Given the description of an element on the screen output the (x, y) to click on. 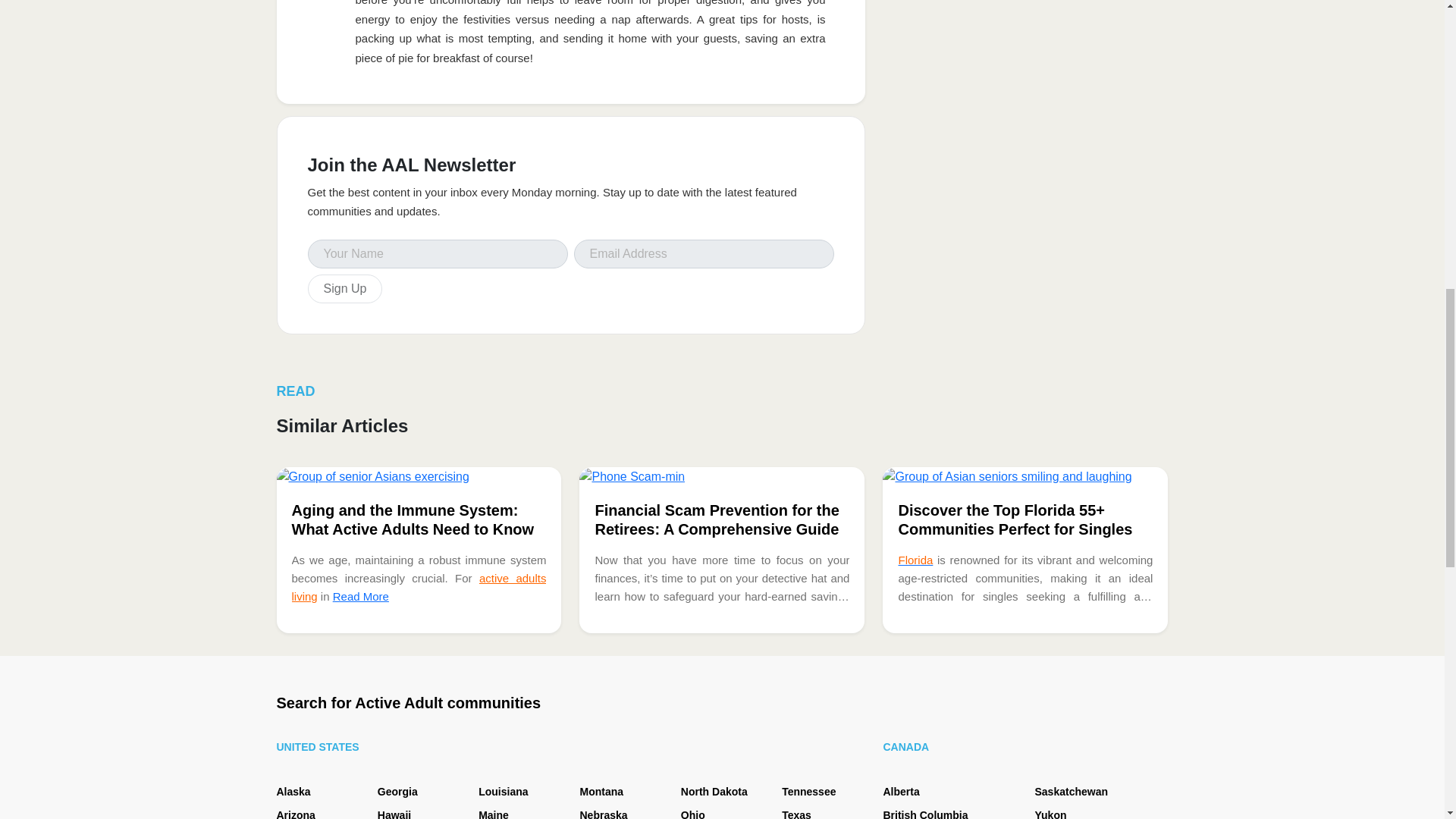
Arizona (295, 814)
Hawaii (393, 814)
Florida (915, 559)
Alaska (293, 791)
Read More (360, 595)
active adults living (418, 586)
Sign Up (344, 288)
Georgia (397, 791)
Sign Up (344, 288)
